Given the description of an element on the screen output the (x, y) to click on. 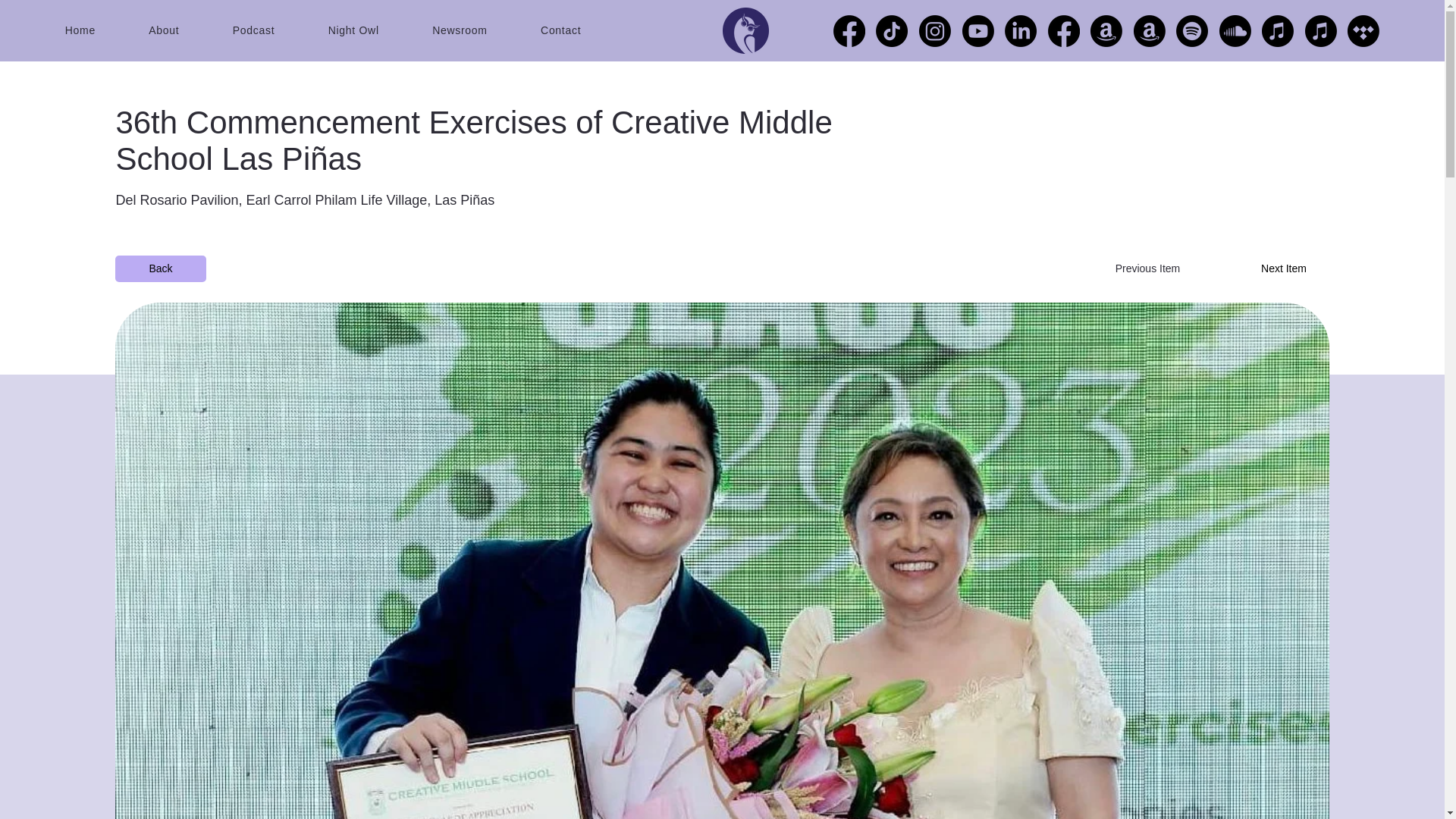
Back (160, 268)
Podcast (280, 30)
Next Item (1283, 268)
Previous Item (1147, 268)
Home (107, 30)
